Given the description of an element on the screen output the (x, y) to click on. 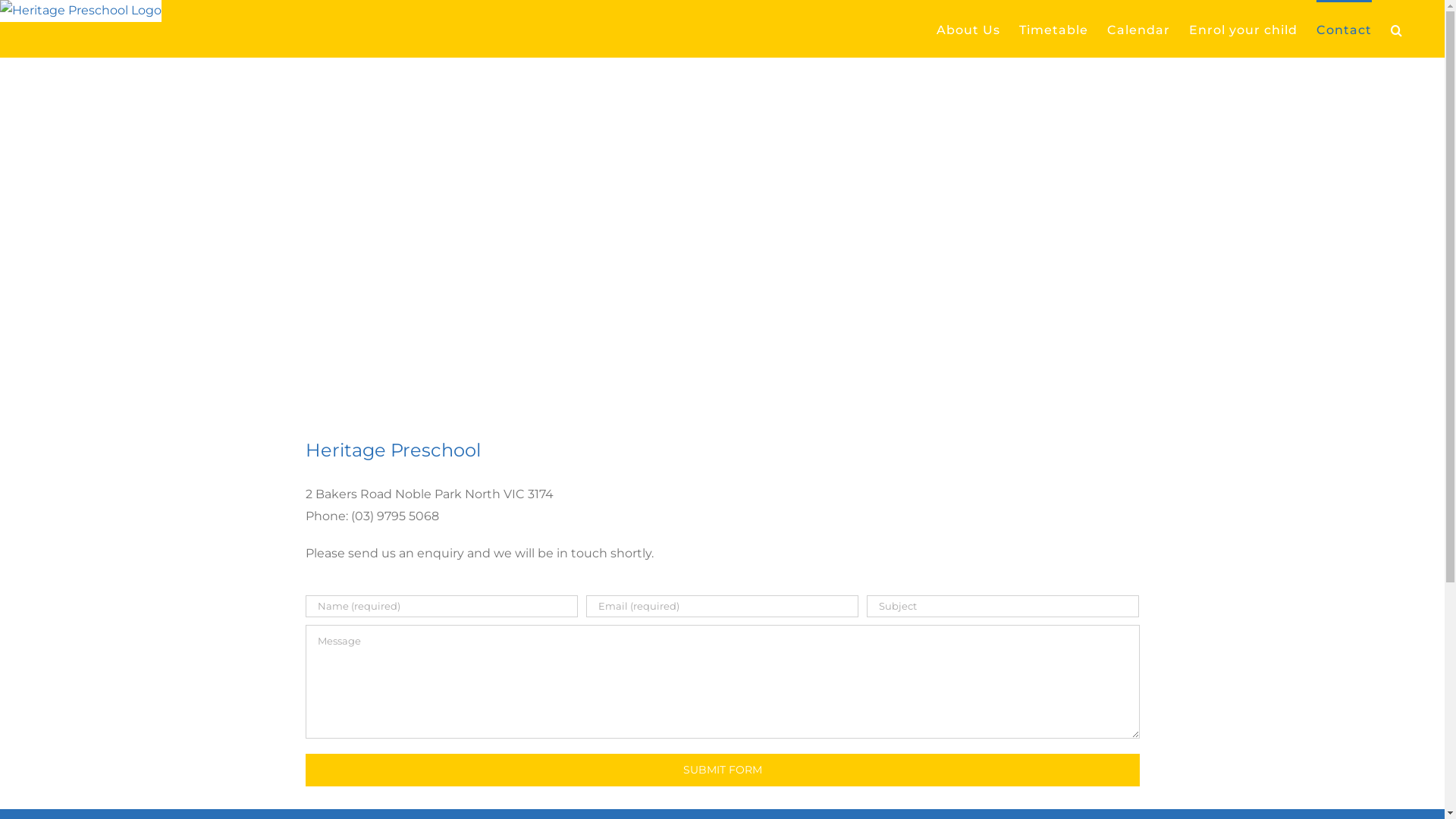
About Us Element type: text (968, 28)
Timetable Element type: text (1053, 28)
Calendar Element type: text (1138, 28)
Submit Form Element type: text (721, 769)
Contact Element type: text (1343, 28)
Search Element type: hover (1396, 28)
Enrol your child Element type: text (1243, 28)
